Given the description of an element on the screen output the (x, y) to click on. 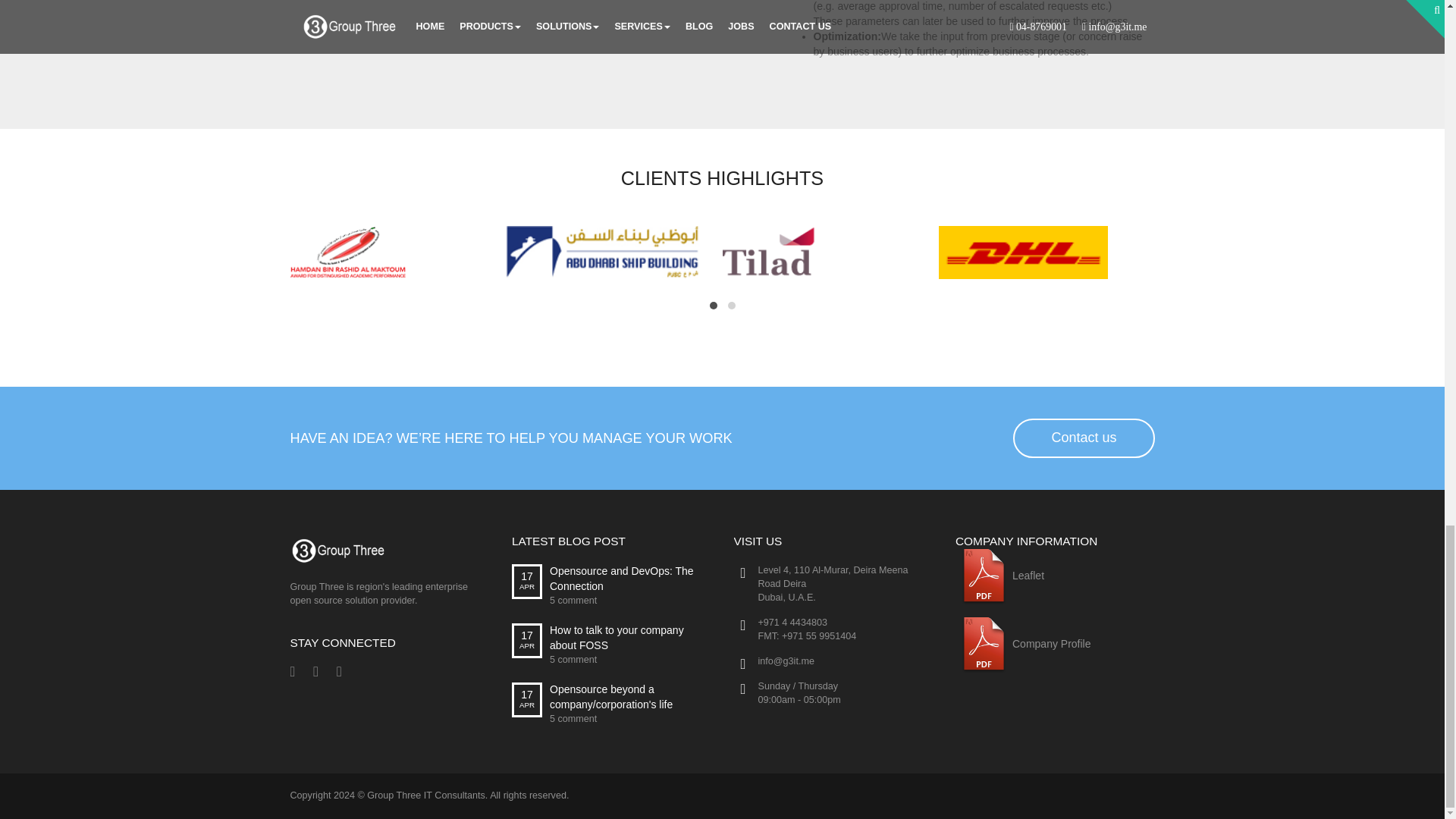
IBM Blueworks (506, 7)
Justin 05 (983, 644)
Collis does the ice bucket challenge (983, 576)
